Given the description of an element on the screen output the (x, y) to click on. 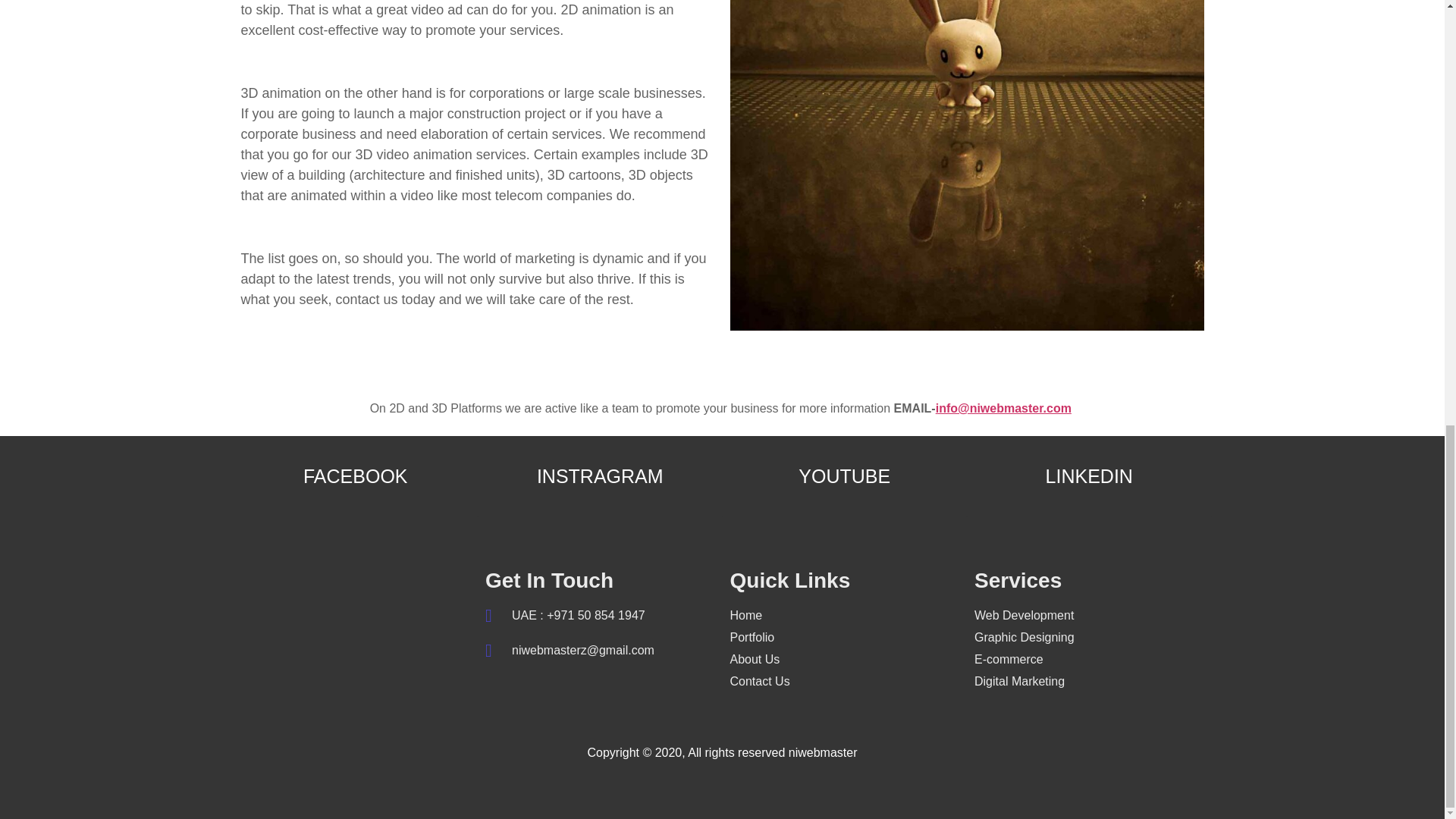
FACEBOOK (355, 475)
LINKEDIN (1088, 475)
INSTRAGRAM (599, 475)
YOUTUBE (844, 475)
Portfolio (844, 637)
